Given the description of an element on the screen output the (x, y) to click on. 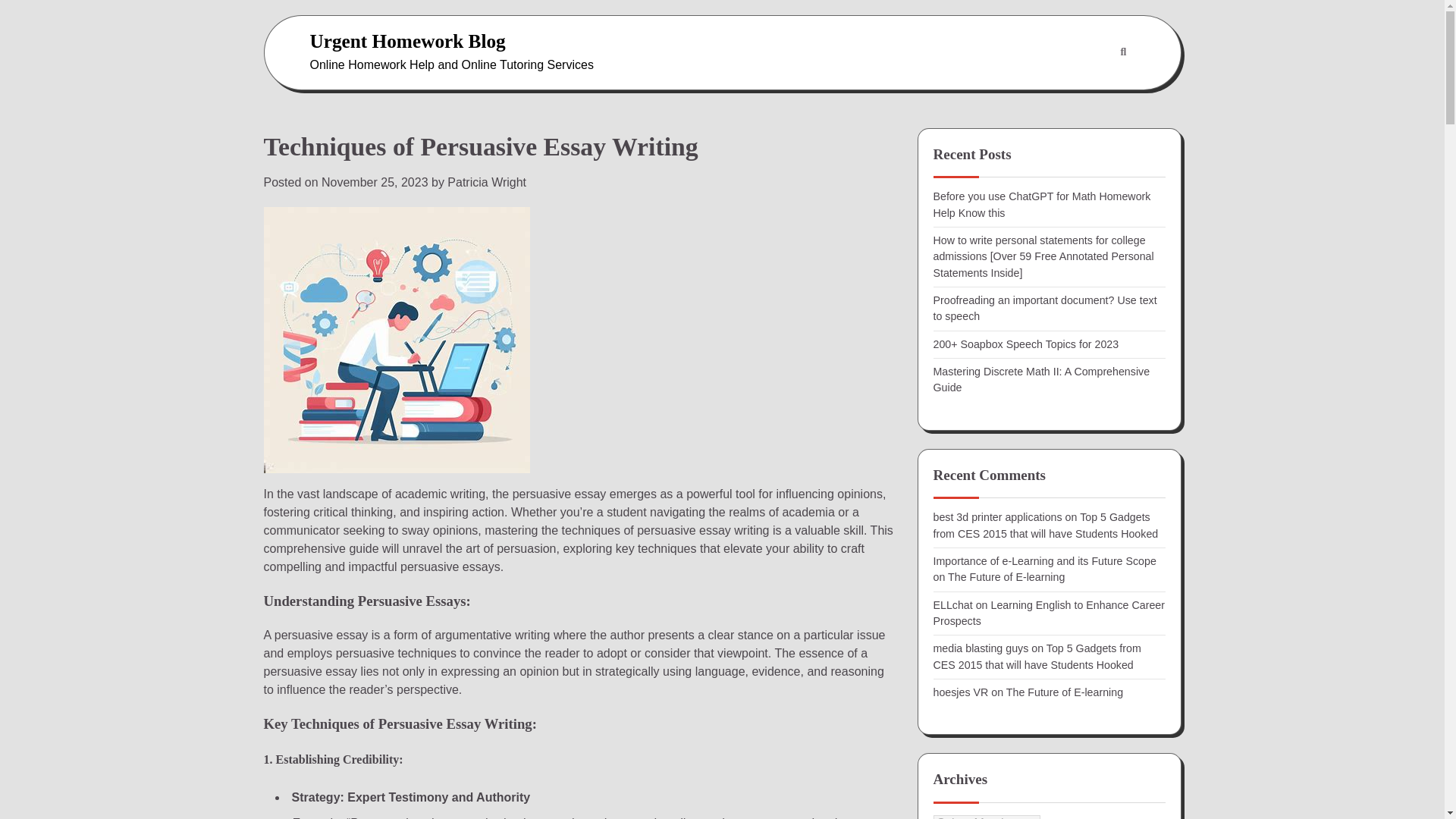
Mastering Discrete Math II: A Comprehensive Guide (1041, 379)
Top 5 Gadgets from CES 2015 that will have Students Hooked (1036, 656)
Search (1123, 51)
Urgent Homework Blog (406, 40)
Top 5 Gadgets from CES 2015 that will have Students Hooked (1045, 524)
Learning English to Enhance Career Prospects (1048, 612)
Before you use ChatGPT for Math Homework Help Know this (1041, 204)
November 25, 2023 (374, 182)
The Future of E-learning (1005, 576)
Search (1086, 88)
The Future of E-learning (1064, 692)
ELLchat (952, 604)
Proofreading an important document? Use text to speech (1044, 308)
Importance of e-Learning and its Future Scope (1044, 561)
Patricia Wright (485, 182)
